Given the description of an element on the screen output the (x, y) to click on. 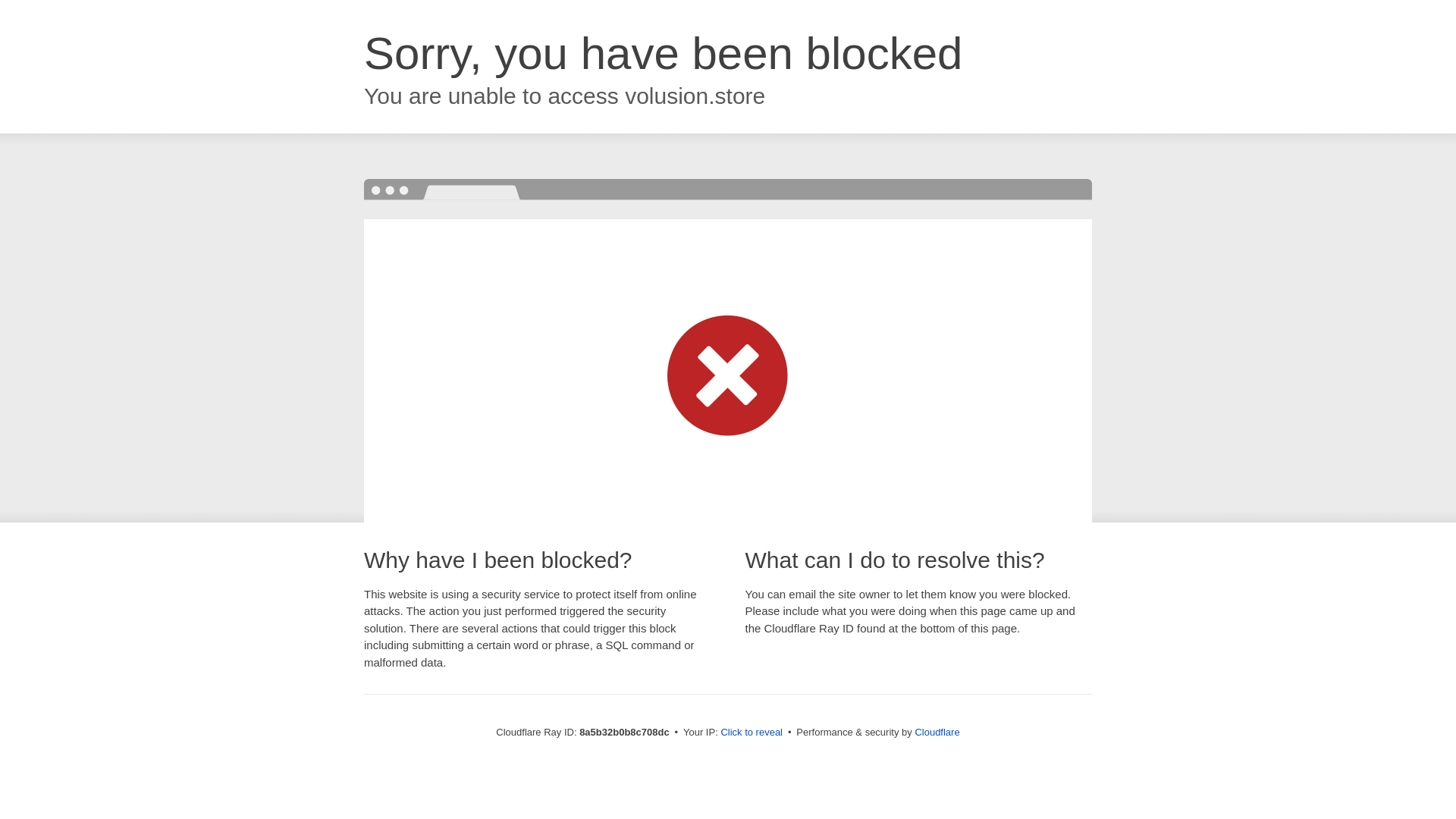
Click to reveal (751, 732)
Cloudflare (936, 731)
